Given the description of an element on the screen output the (x, y) to click on. 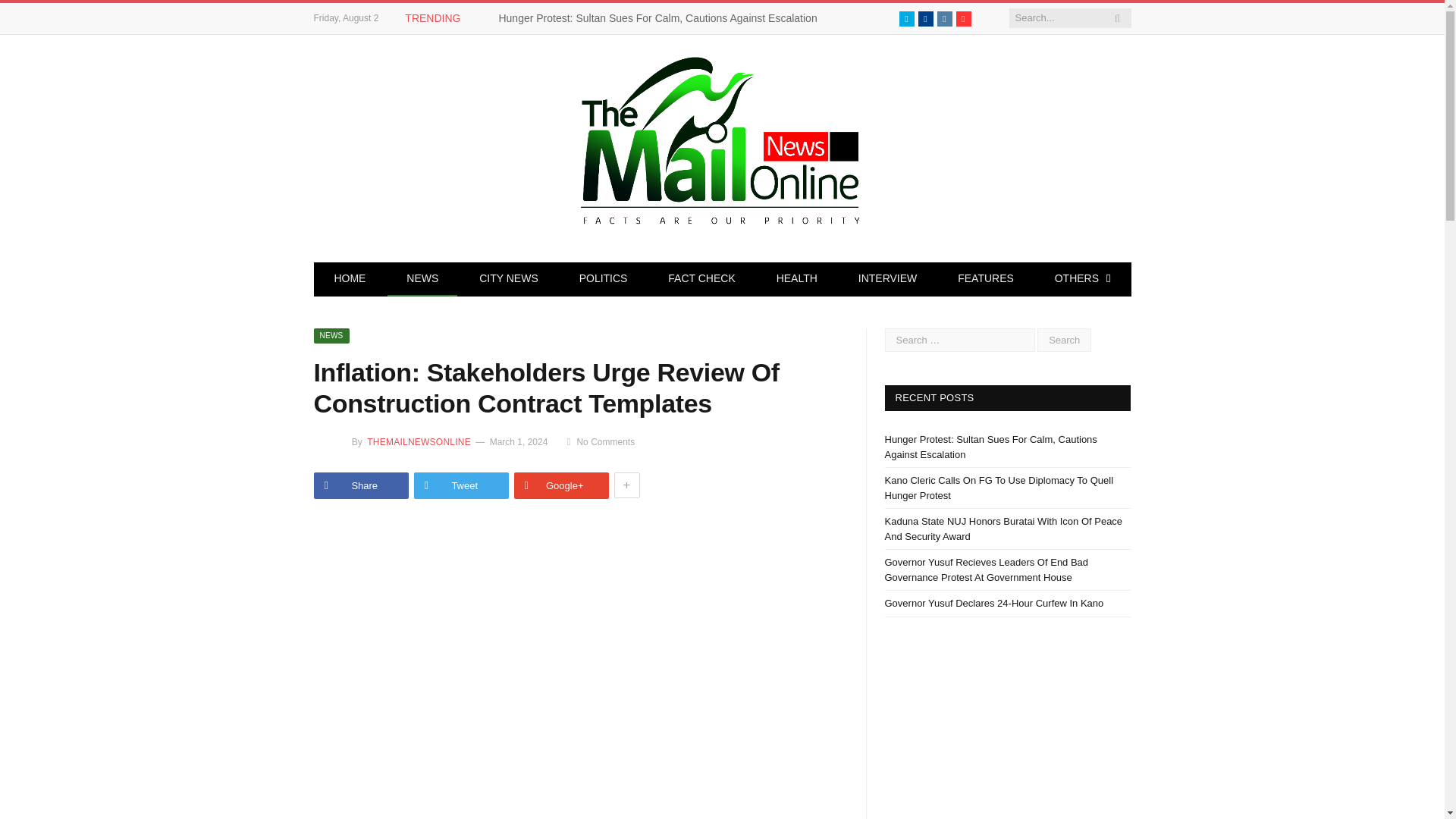
Posts by TheMailNewsOnline (417, 441)
Search (1063, 340)
NEWS (331, 335)
THEMAILNEWSONLINE (417, 441)
CITY NEWS (508, 279)
Twitter (906, 18)
NEWS (422, 279)
YouTube (963, 18)
Facebook (925, 18)
FACT CHECK (701, 279)
The Mail News (721, 146)
Instagram (944, 18)
FEATURES (985, 279)
No Comments (600, 441)
